Given the description of an element on the screen output the (x, y) to click on. 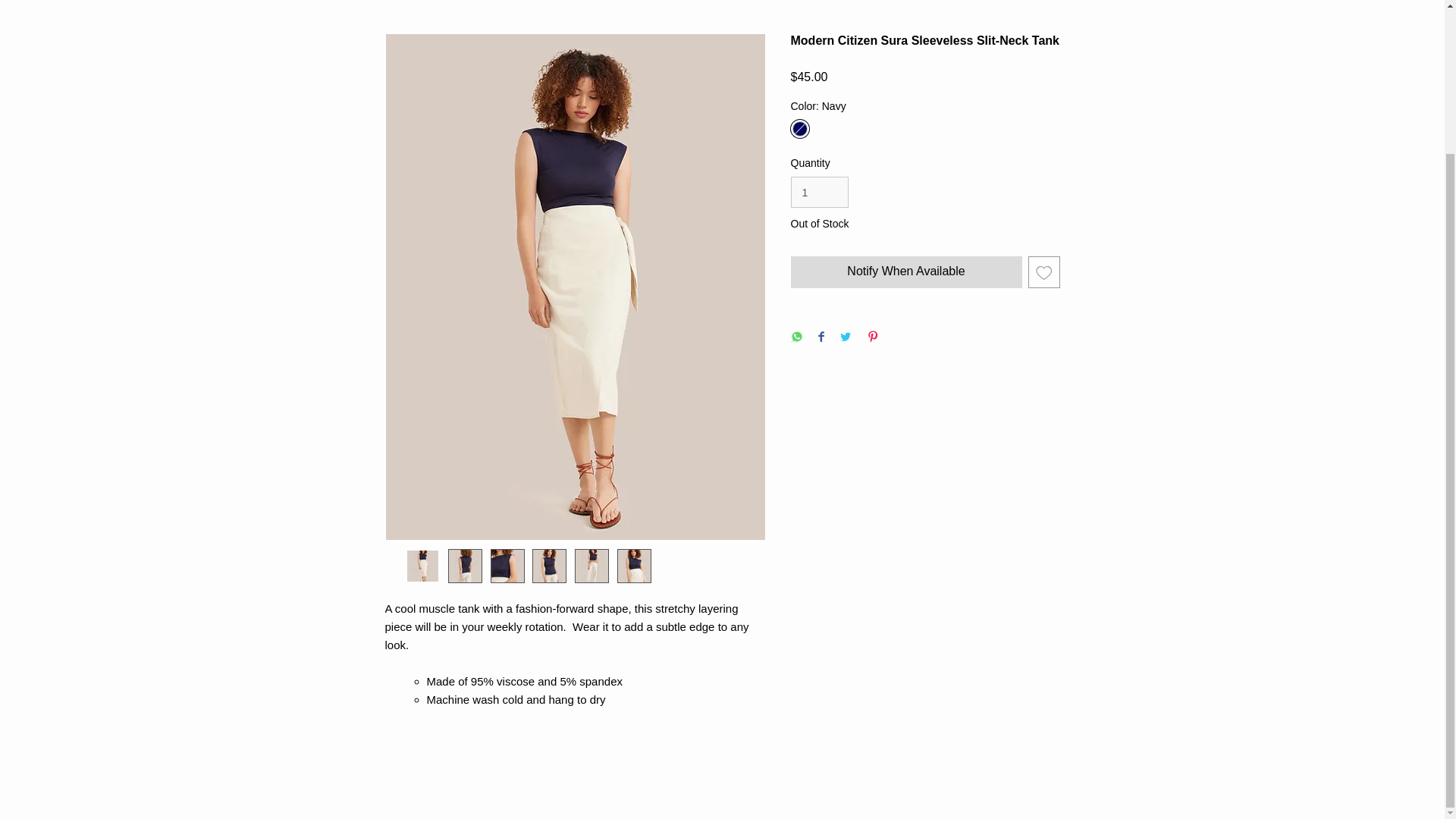
1 (818, 192)
